Given the description of an element on the screen output the (x, y) to click on. 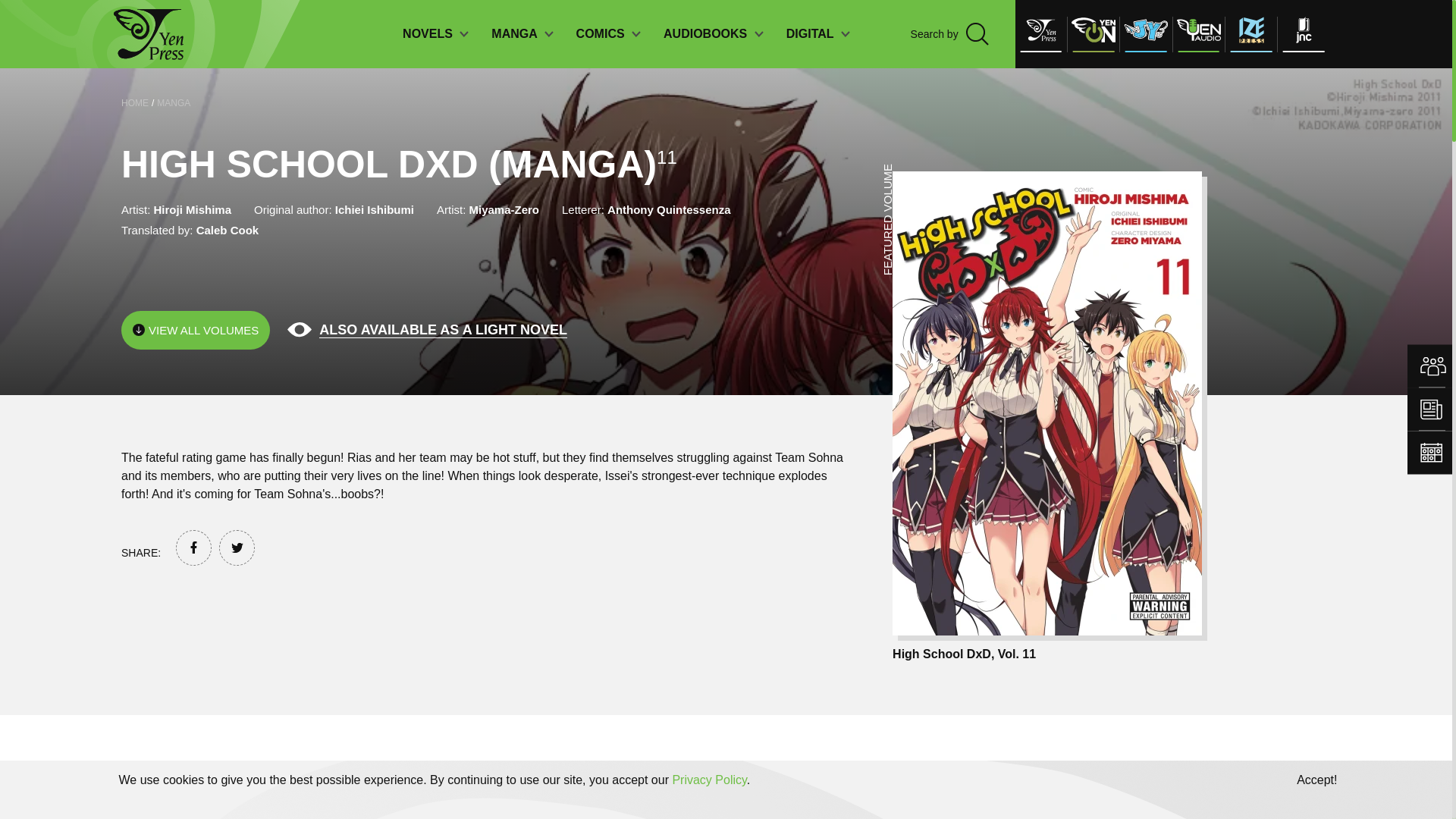
MANGA (522, 33)
NOVELS (435, 33)
